Given the description of an element on the screen output the (x, y) to click on. 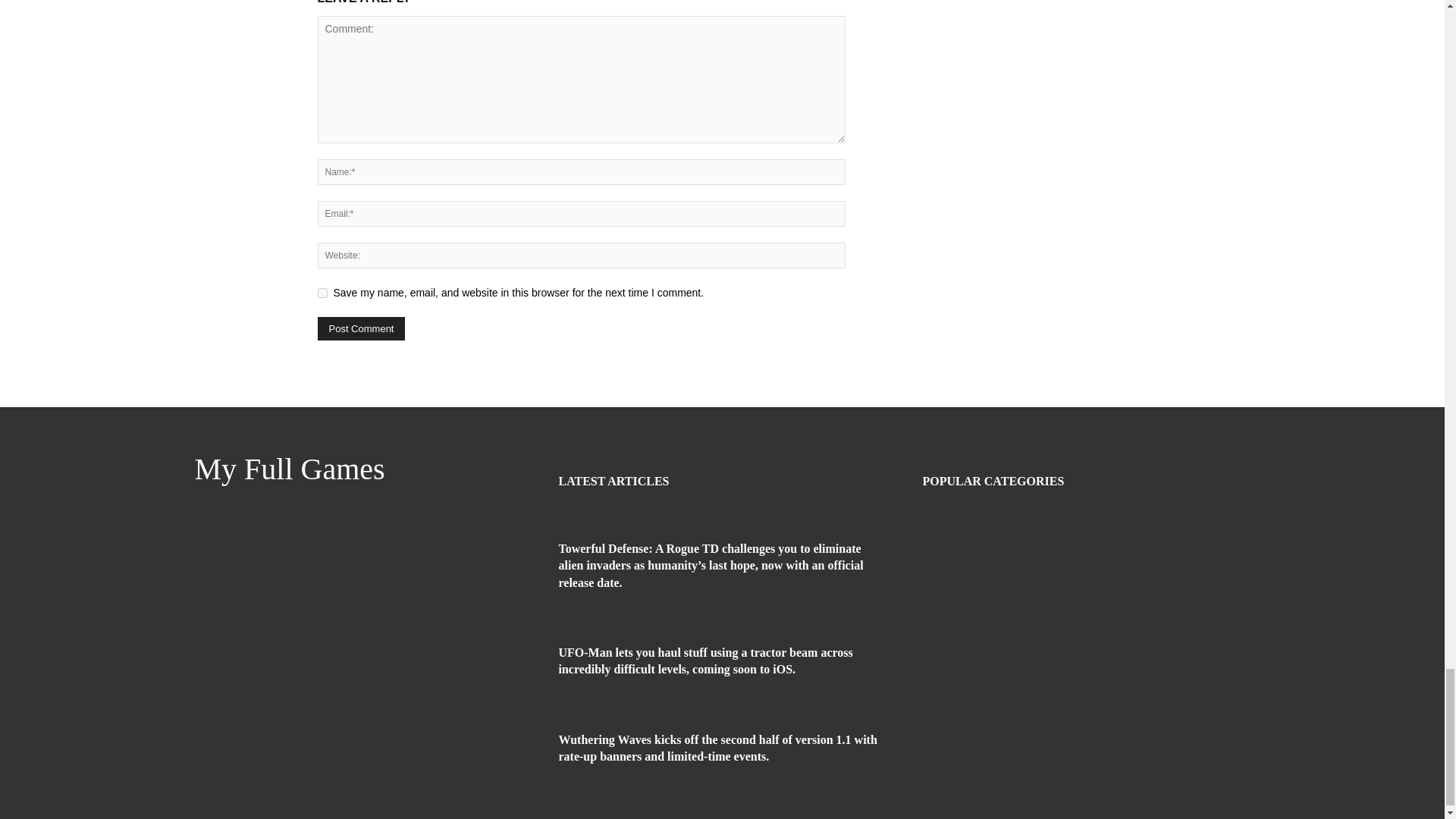
Post Comment (360, 328)
yes (321, 293)
